Given the description of an element on the screen output the (x, y) to click on. 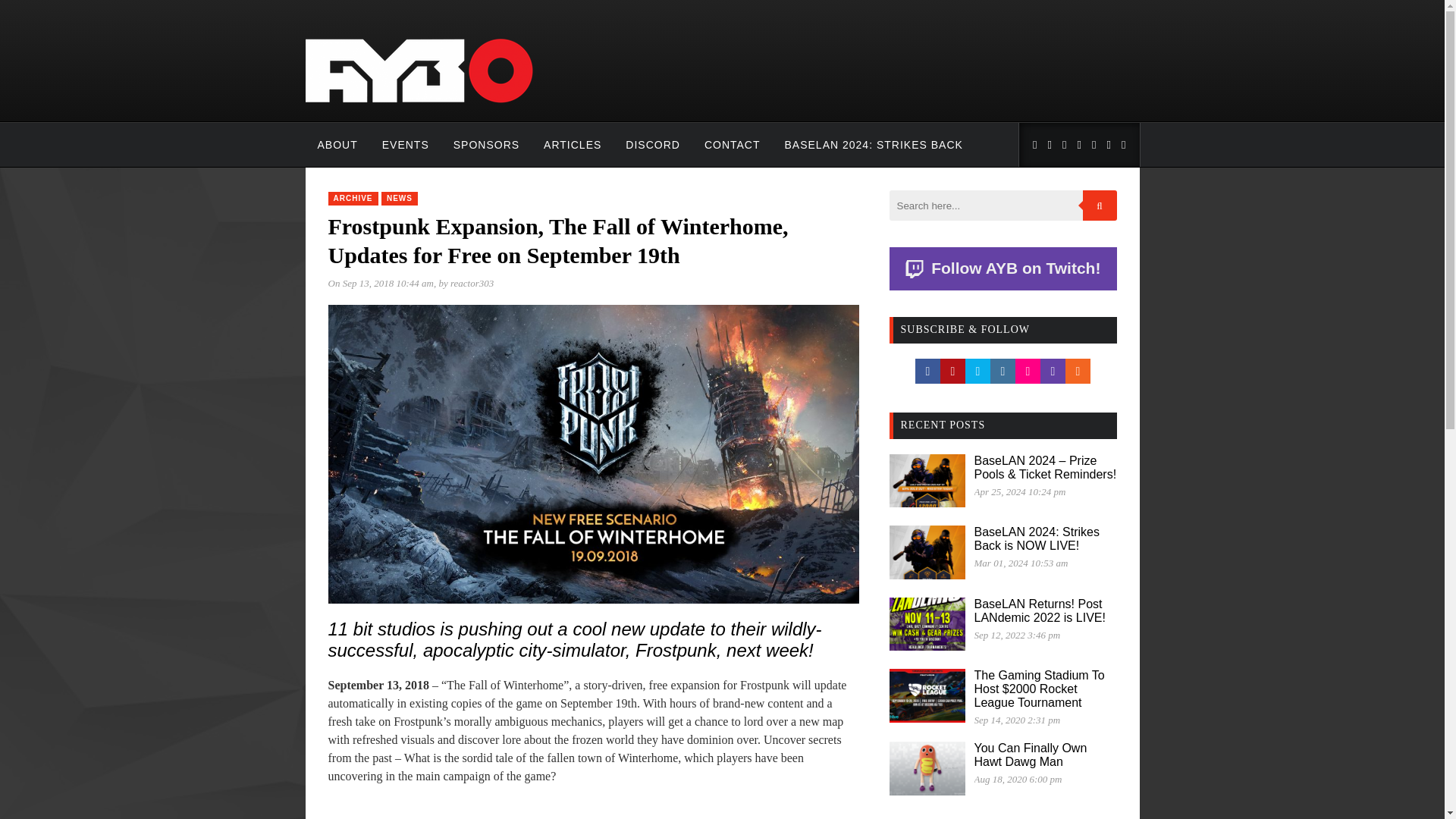
BASELAN 2024: STRIKES BACK (874, 144)
DISCORD (652, 144)
Follow AYB on Twitch! (1002, 268)
ARCHIVE (352, 198)
NEWS (399, 198)
SPONSORS (486, 144)
CONTACT (733, 144)
Winnipeg's Premier Console and PC Gaming Community (418, 103)
EVENTS (405, 144)
ARTICLES (571, 144)
ABOUT (336, 144)
